Given the description of an element on the screen output the (x, y) to click on. 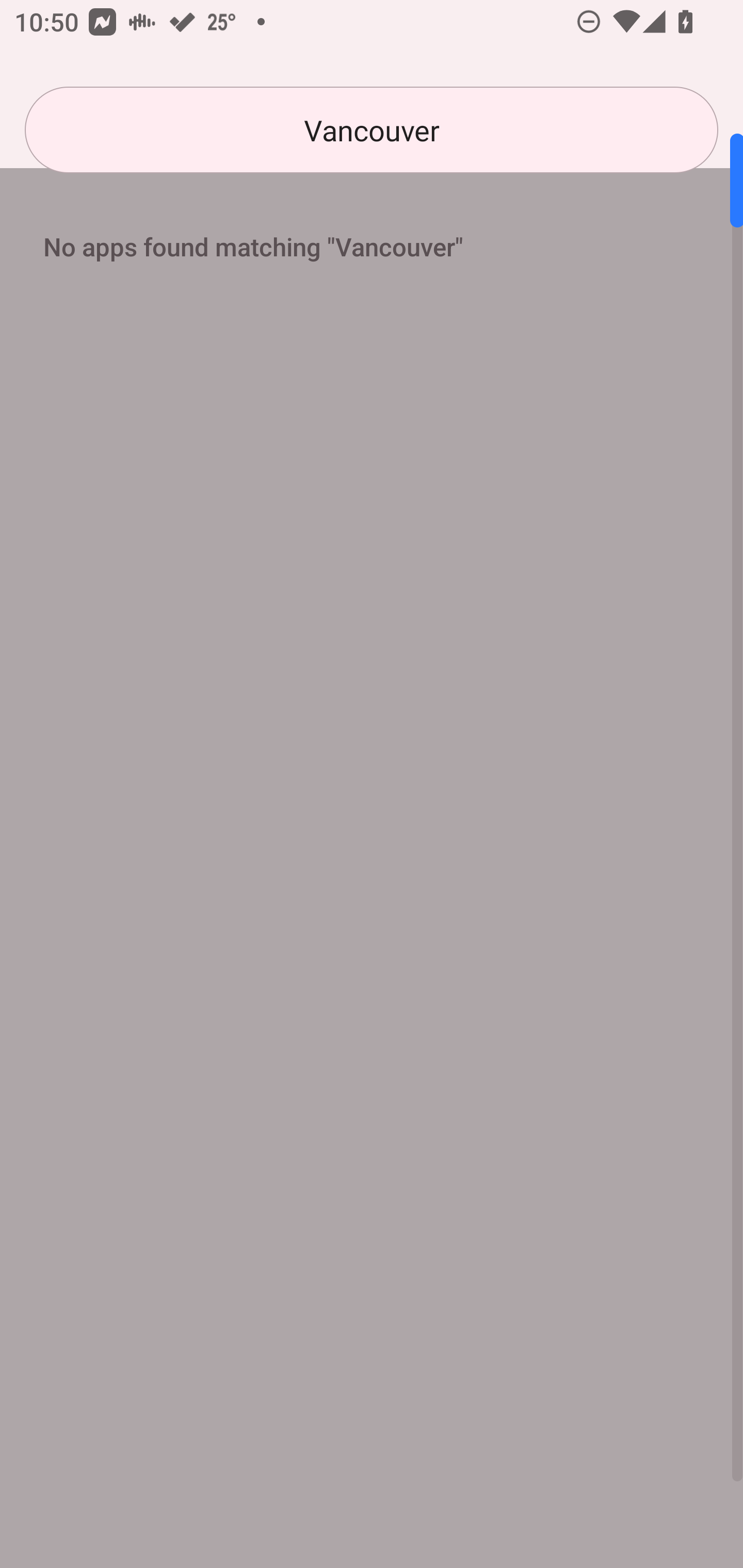
Vancouver (371, 130)
